Given the description of an element on the screen output the (x, y) to click on. 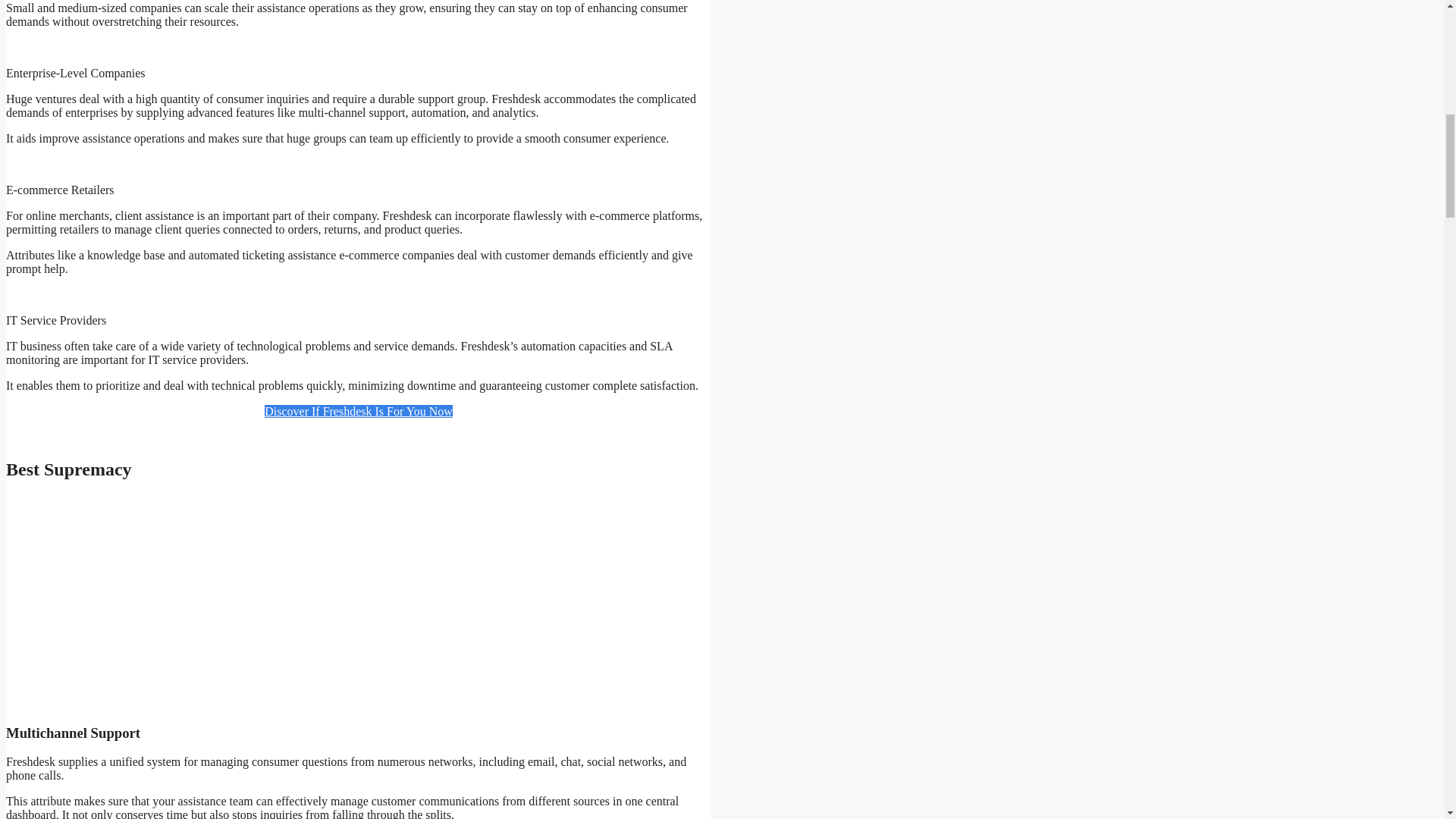
Discover If Freshdesk Is For You Now (358, 410)
